Given the description of an element on the screen output the (x, y) to click on. 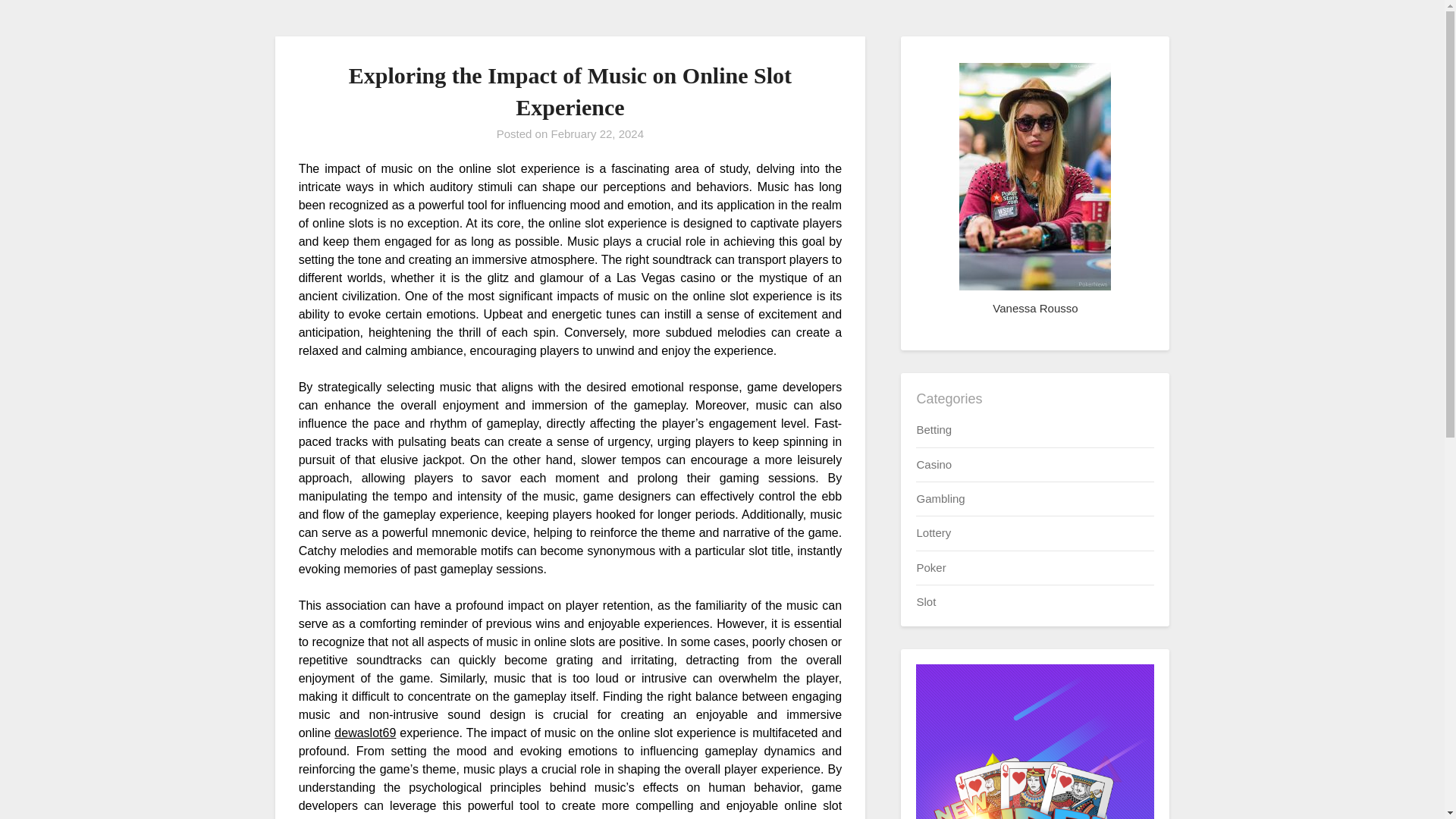
Poker (929, 567)
Betting (933, 429)
Lottery (932, 532)
Gambling (939, 498)
Slot (925, 601)
Casino (933, 463)
dewaslot69 (365, 732)
February 22, 2024 (596, 133)
